Given the description of an element on the screen output the (x, y) to click on. 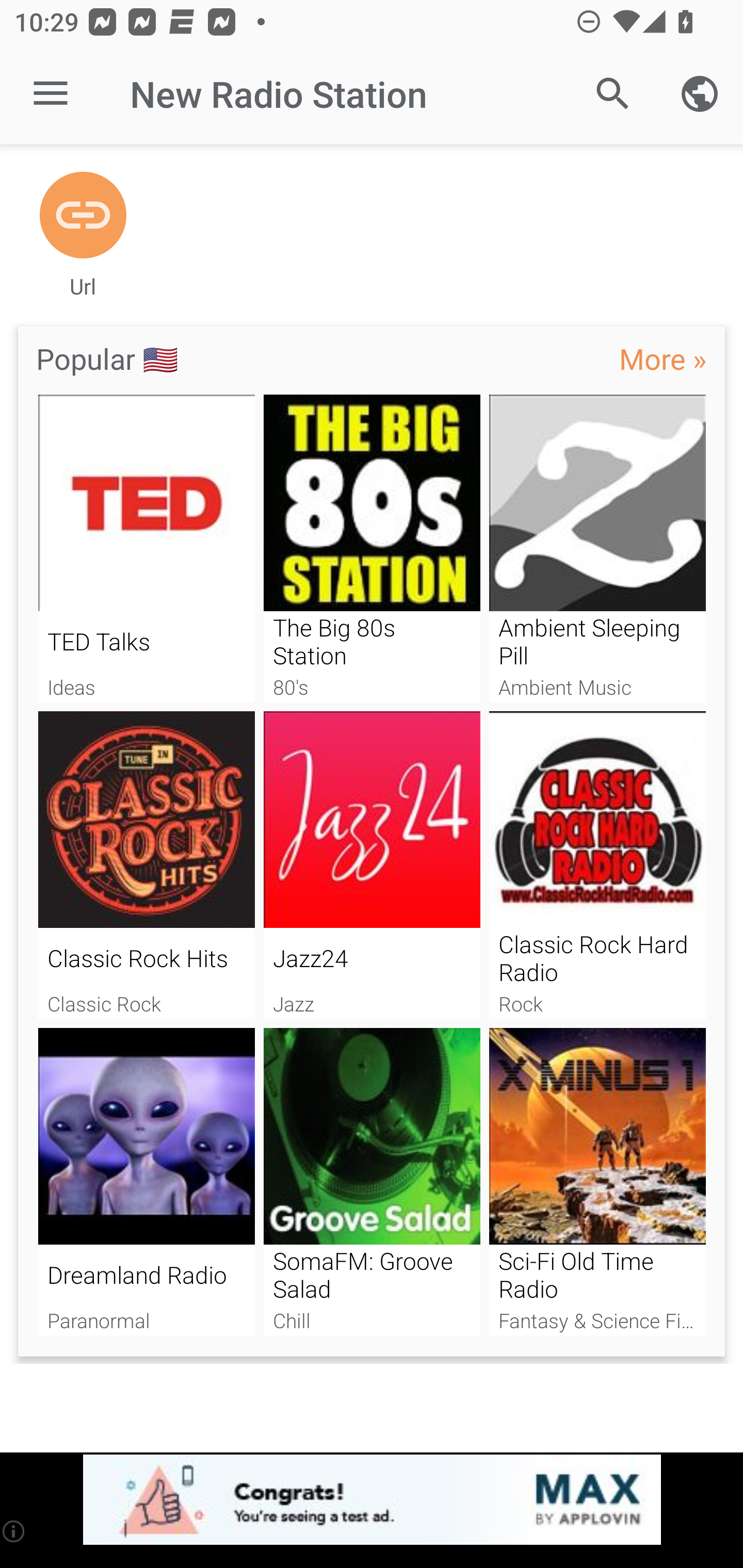
Open navigation sidebar (50, 93)
Search (612, 93)
Podcast languages (699, 93)
RSS (82, 215)
More » (662, 357)
TED Talks Ideas (145, 548)
The Big 80s Station 80's (371, 548)
Ambient Sleeping Pill Ambient Music (596, 548)
Classic Rock Hits Classic Rock (145, 865)
Jazz24 Jazz (371, 865)
Classic Rock Hard Radio Rock (596, 865)
Dreamland Radio Paranormal (145, 1181)
SomaFM: Groove Salad Chill (371, 1181)
app-monetization (371, 1500)
(i) (14, 1531)
